Given the description of an element on the screen output the (x, y) to click on. 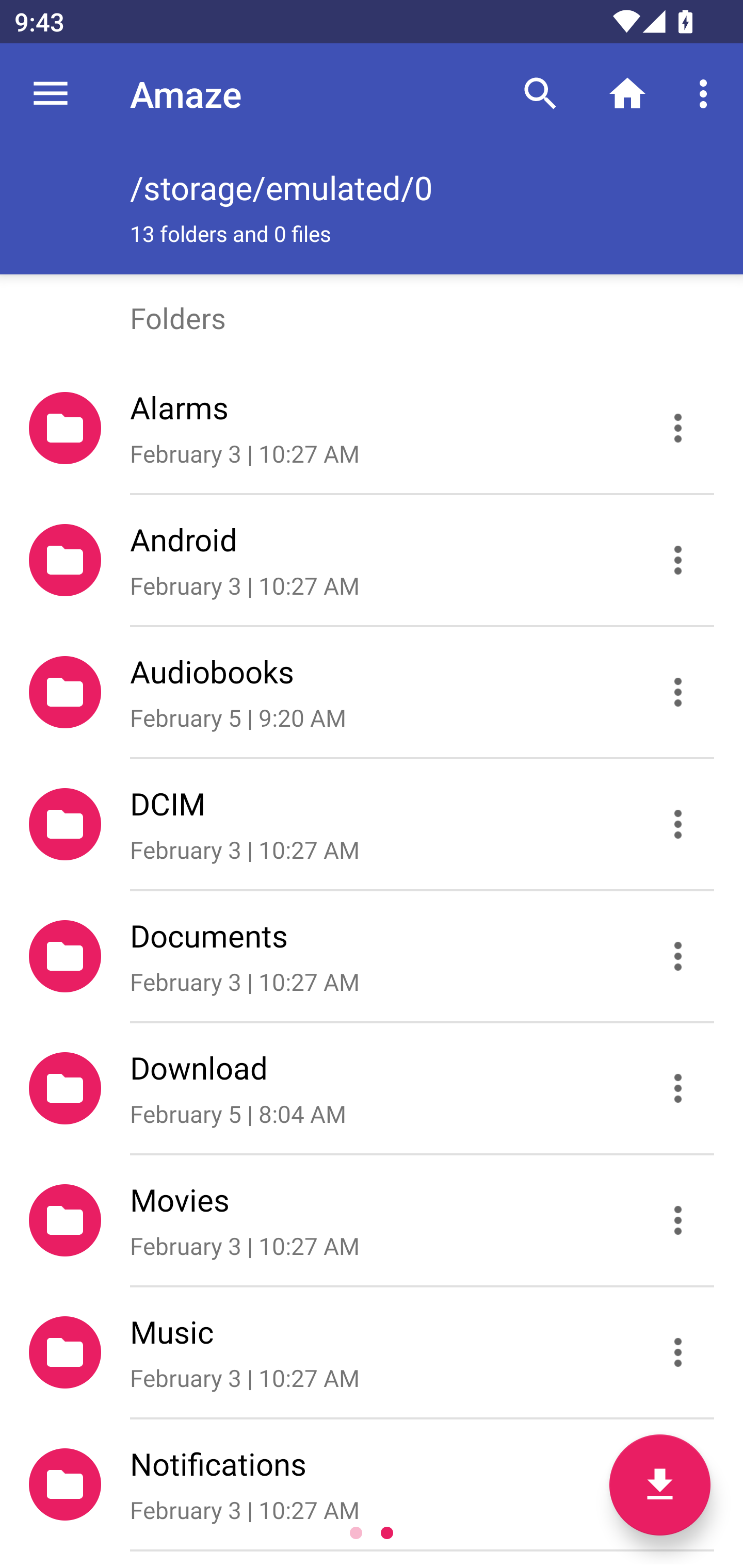
Navigate up (50, 93)
Search (540, 93)
Home (626, 93)
More options (706, 93)
Alarms February 3 | 10:27 AM (371, 427)
Android February 3 | 10:27 AM (371, 560)
Audiobooks February 5 | 9:20 AM (371, 692)
DCIM February 3 | 10:27 AM (371, 823)
Documents February 3 | 10:27 AM (371, 955)
Download February 5 | 8:04 AM (371, 1088)
Movies February 3 | 10:27 AM (371, 1220)
Music February 3 | 10:27 AM (371, 1352)
Notifications February 3 | 10:27 AM (371, 1484)
